Given the description of an element on the screen output the (x, y) to click on. 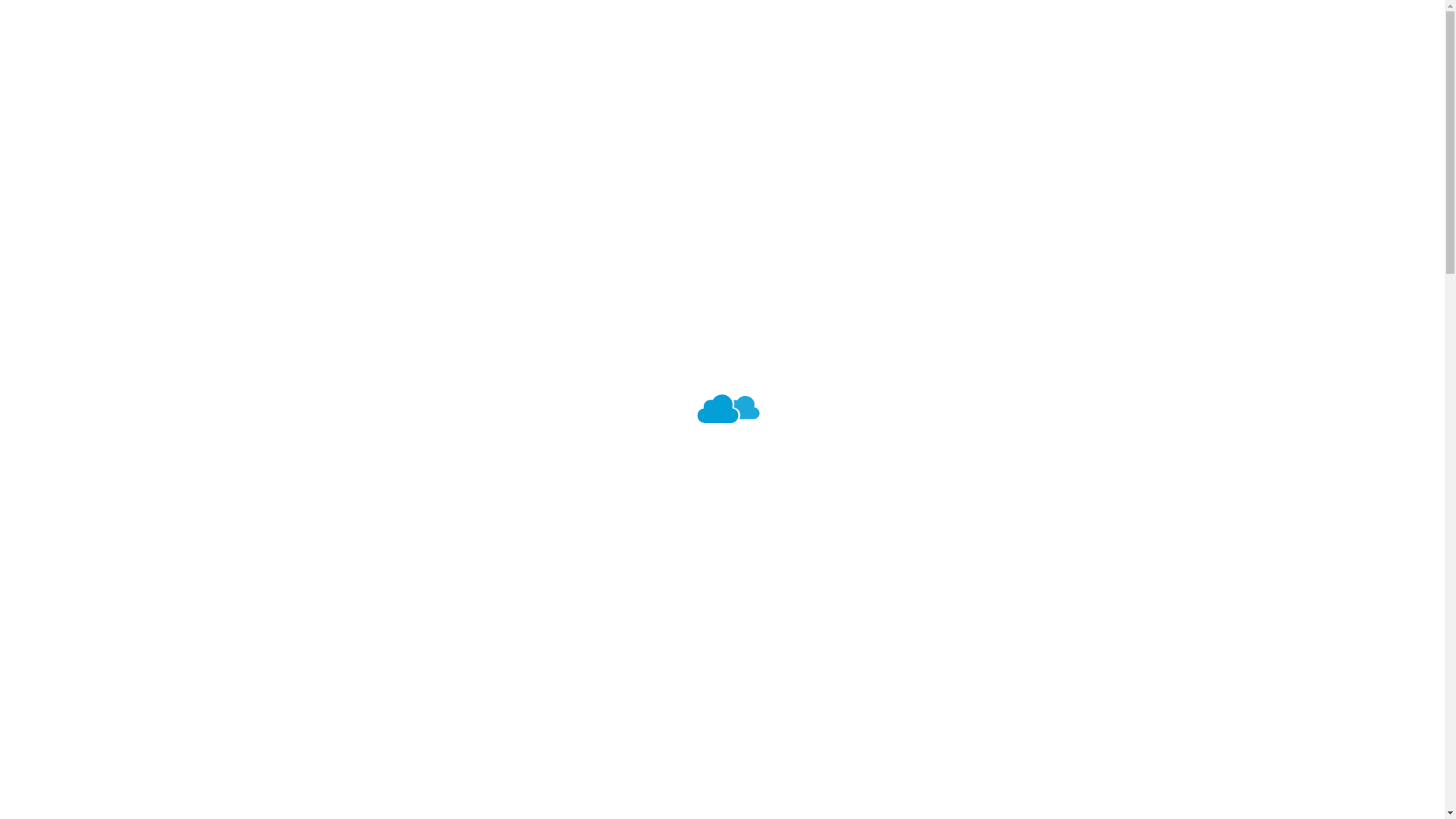
Ressourcen Element type: text (172, 163)
Business Offer Development Element type: text (308, 529)
Webinar Kalender Ingram Element type: text (211, 135)
Trainings Element type: text (74, 306)
Alle Trainings Element type: text (151, 305)

             Element type: hover (91, 224)

             Element type: hover (55, 221)
Einloggen Element type: text (587, 578)
Ingram Micro Element type: text (86, 135)
Microsoft AI Cloud Partner Program Element type: text (329, 418)
Sales Training Element type: text (153, 334)
Programme und Ressourcen Element type: text (130, 460)
Microsoft Customer Journey-In-a-Box Playbooks Element type: text (365, 473)
Learning Paths Element type: text (156, 277)
Build your Security practice Element type: text (305, 446)
Registrieren Element type: text (587, 555)
Q&A Seite Element type: text (166, 190)
Technische Trainings Element type: text (172, 361)
Kalender Element type: text (140, 250)
Marketing More With Less Element type: text (300, 501)
